Given the description of an element on the screen output the (x, y) to click on. 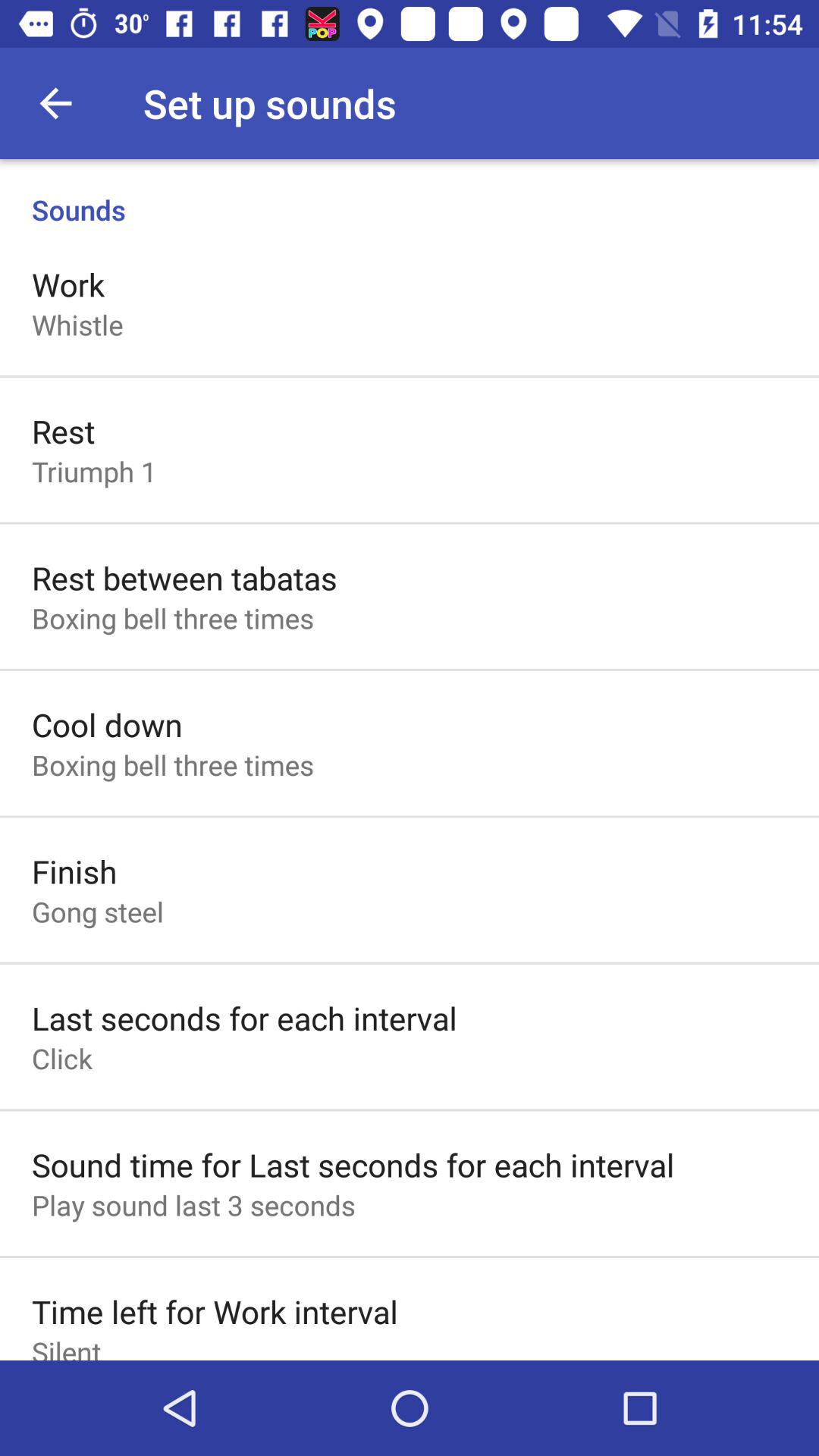
turn off icon below the triumph 1 (184, 577)
